Given the description of an element on the screen output the (x, y) to click on. 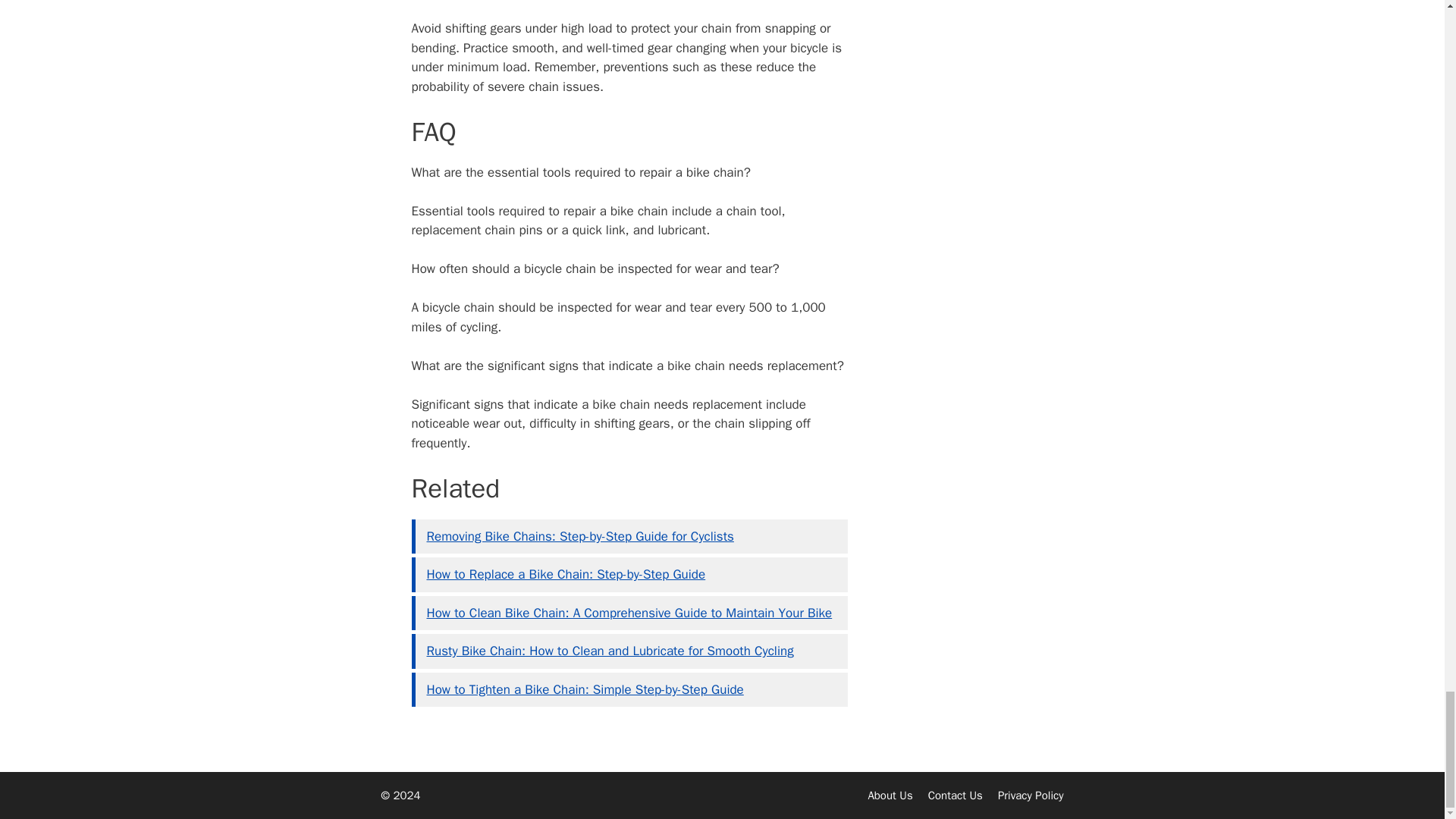
Contact Us (955, 795)
About Us (889, 795)
How to Replace a Bike Chain: Step-by-Step Guide (565, 574)
Privacy Policy (1030, 795)
Removing Bike Chains: Step-by-Step Guide for Cyclists (579, 536)
How to Tighten a Bike Chain: Simple Step-by-Step Guide (584, 689)
How to Replace a Bike Chain: Step-by-Step Guide (565, 574)
Removing Bike Chains: Step-by-Step Guide for Cyclists (579, 536)
How to Tighten a Bike Chain: Simple Step-by-Step Guide (584, 689)
